Given the description of an element on the screen output the (x, y) to click on. 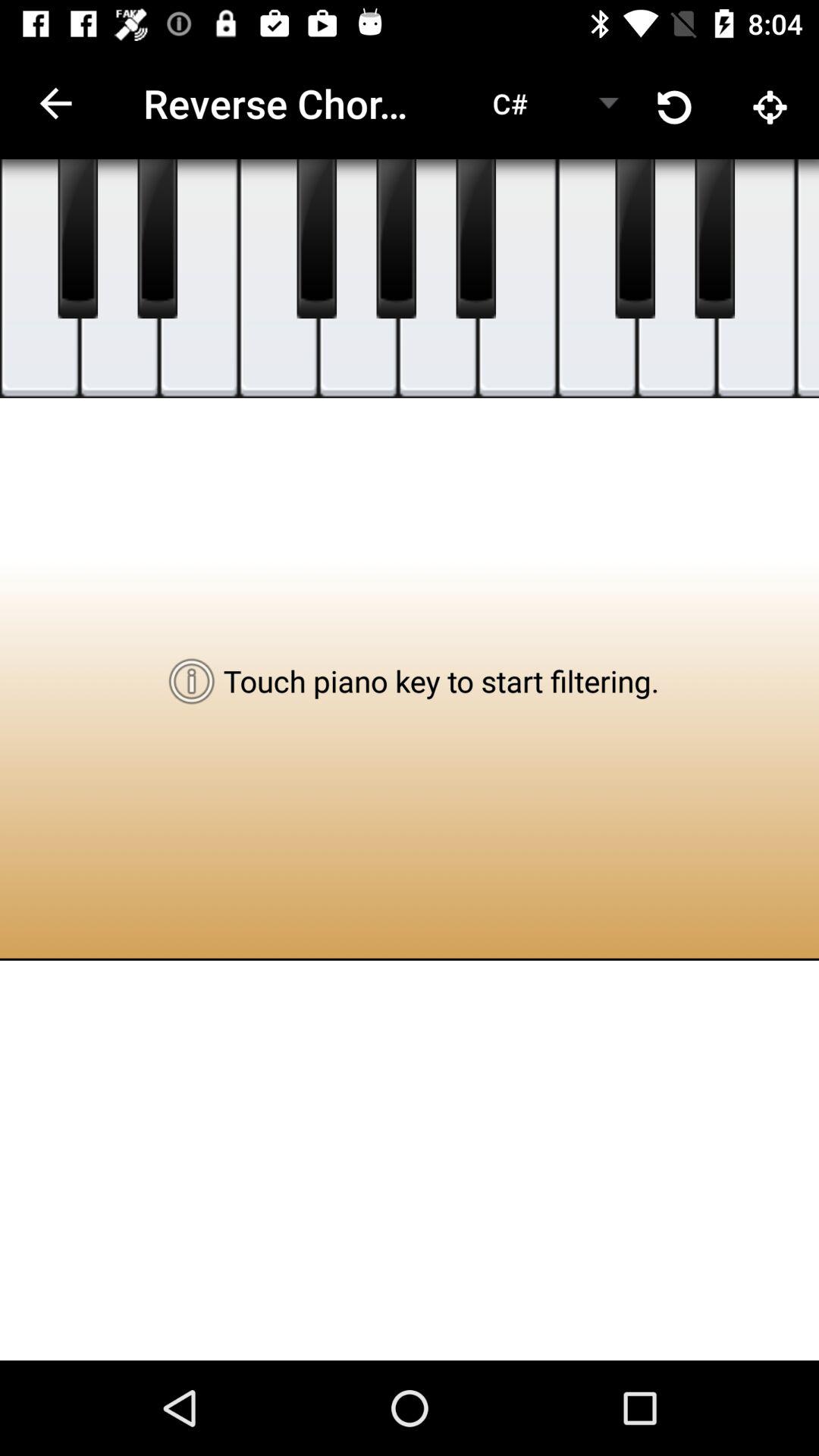
piano play key (77, 238)
